Given the description of an element on the screen output the (x, y) to click on. 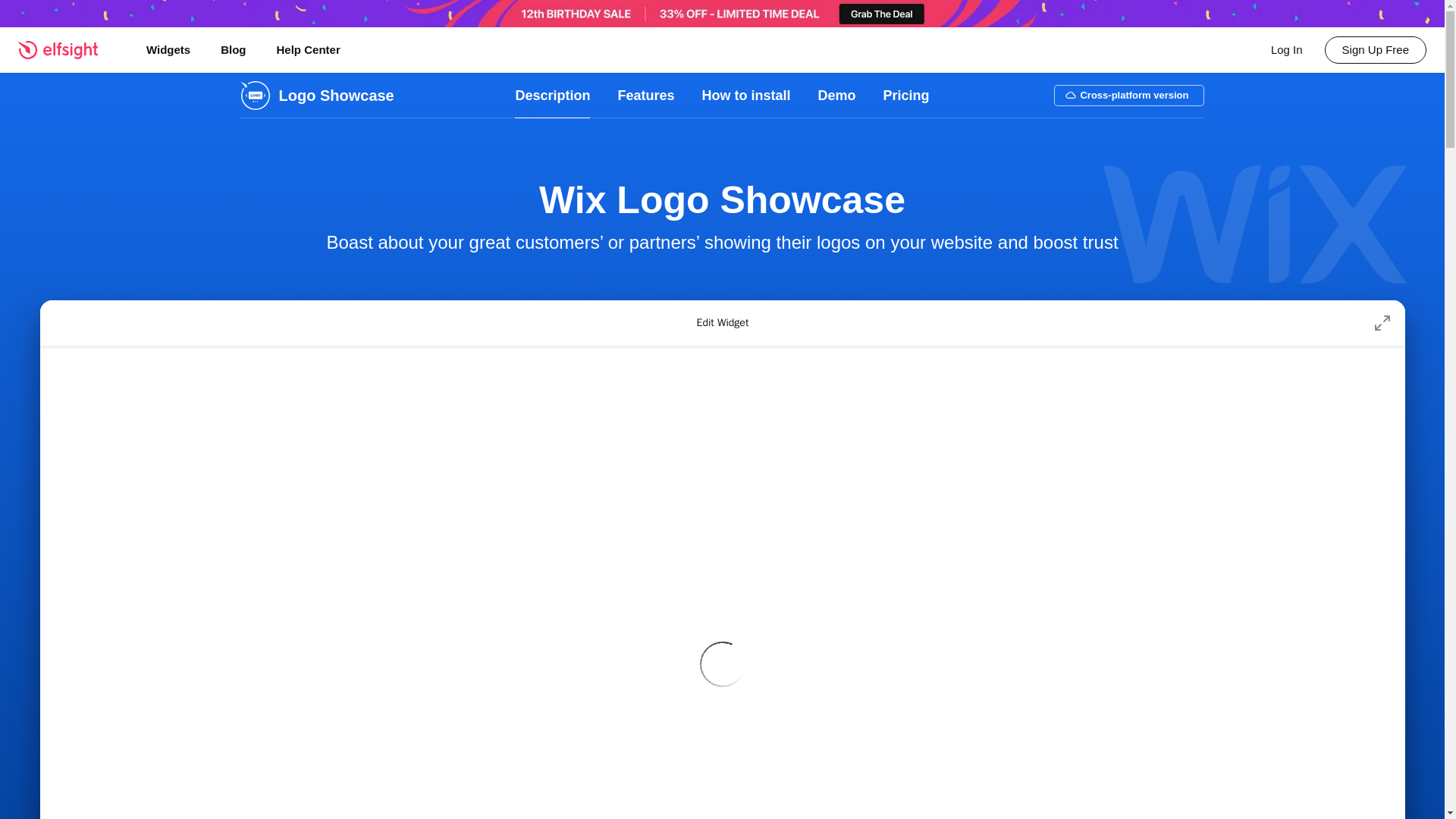
Full Screen (1381, 322)
Elfsight - Premium Plugins For Websites (66, 49)
Widgets (168, 49)
